Given the description of an element on the screen output the (x, y) to click on. 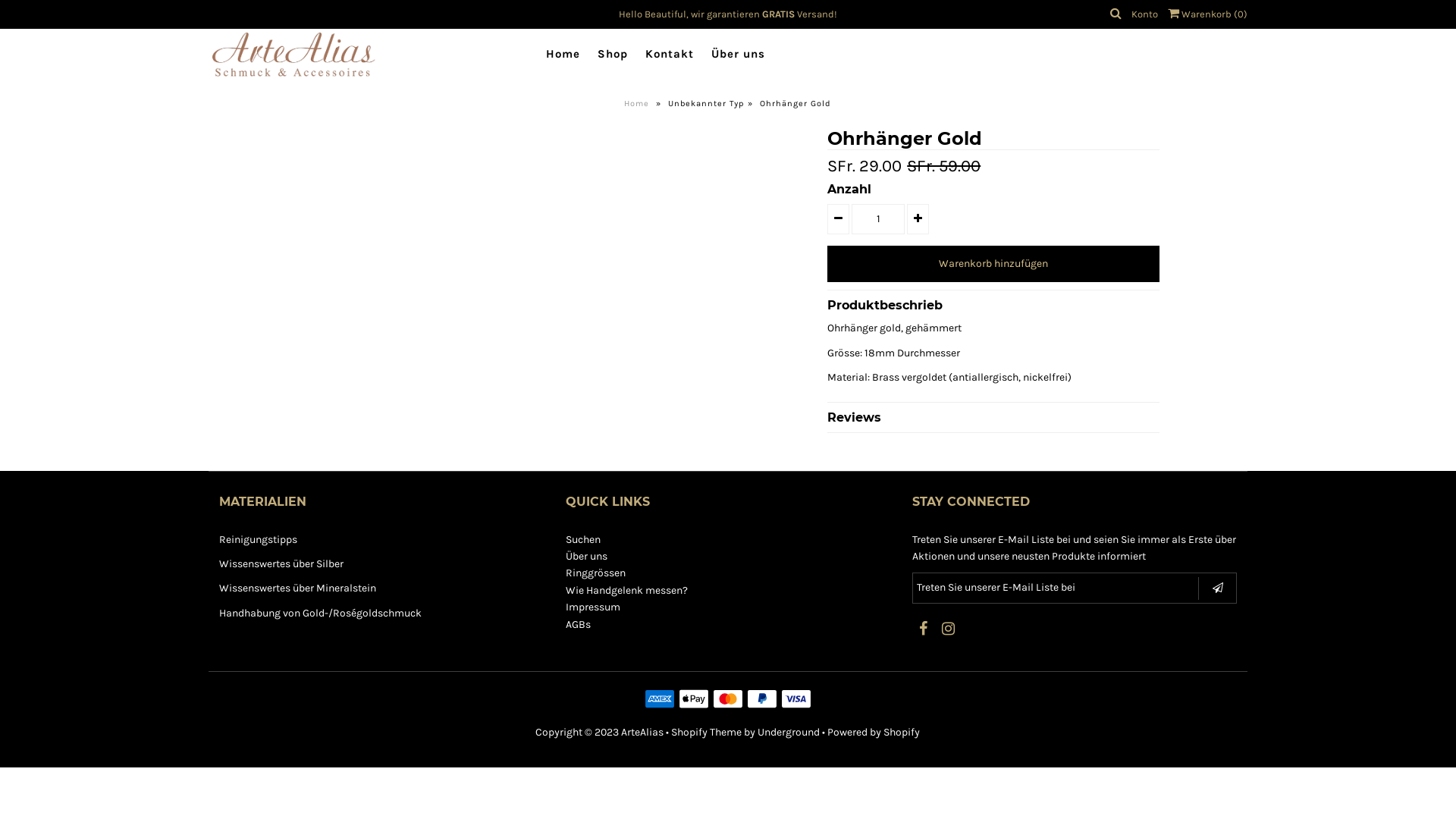
Konto Element type: text (1144, 13)
Suchen Element type: text (582, 539)
Wie Handgelenk messen? Element type: text (626, 589)
Hello Beautiful, wir garantieren GRATIS Versand! Element type: text (727, 13)
Kontakt Element type: text (669, 54)
Shopify Theme Element type: text (706, 731)
Shop Element type: text (612, 54)
Home Element type: text (638, 103)
Impressum Element type: text (592, 606)
Home Element type: text (562, 54)
Reviews Element type: text (993, 413)
Produktbeschrieb Element type: text (993, 301)
Warenkorb (0) Element type: text (1207, 13)
ArteAlias Element type: text (642, 731)
AGBs Element type: text (577, 624)
Reinigungstipps Element type: text (258, 539)
